Given the description of an element on the screen output the (x, y) to click on. 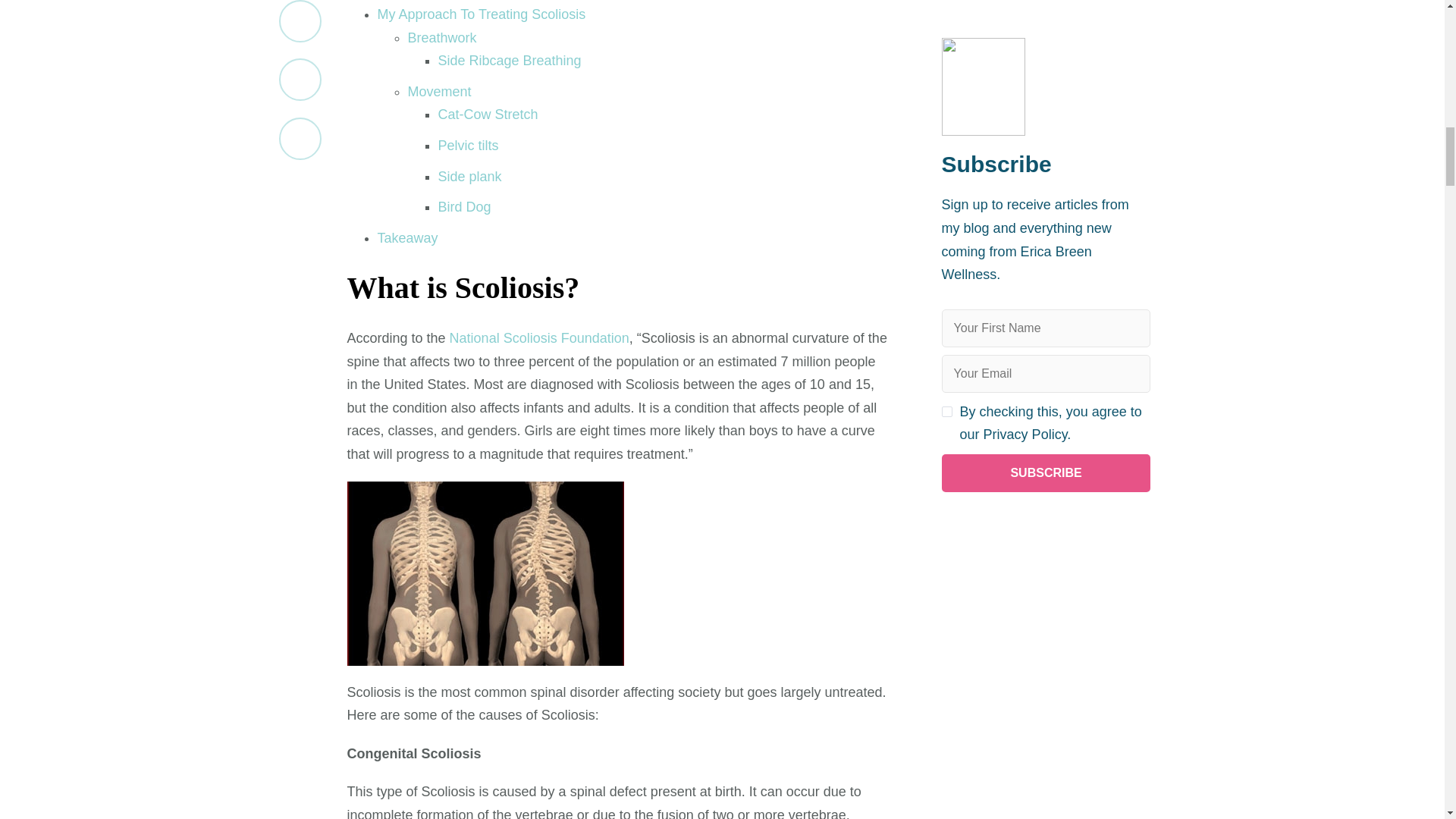
Subscribe (1046, 70)
